Given the description of an element on the screen output the (x, y) to click on. 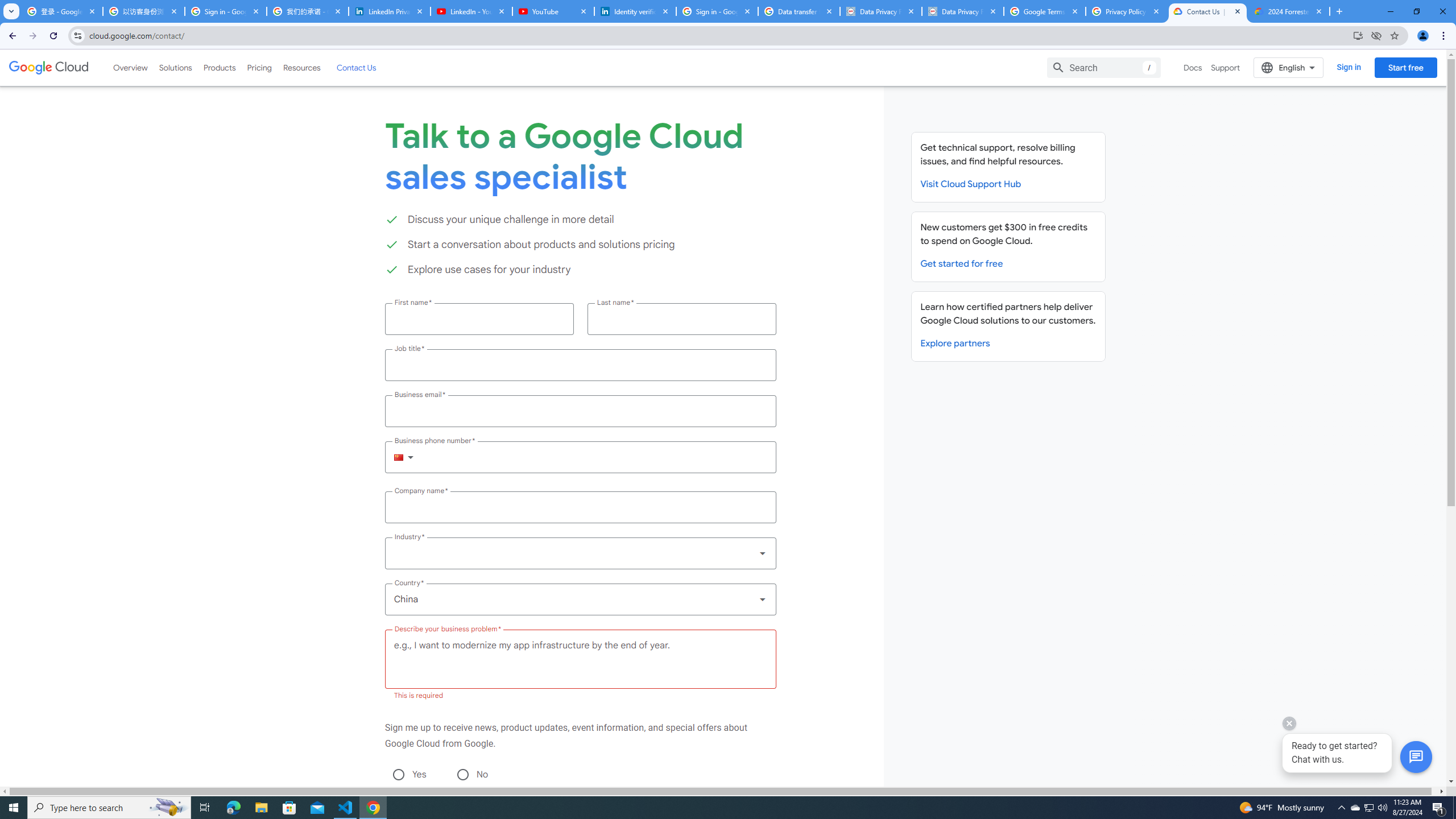
Docs (1192, 67)
Business phone number * (594, 457)
Last name * (681, 318)
Industry * (580, 553)
